Given the description of an element on the screen output the (x, y) to click on. 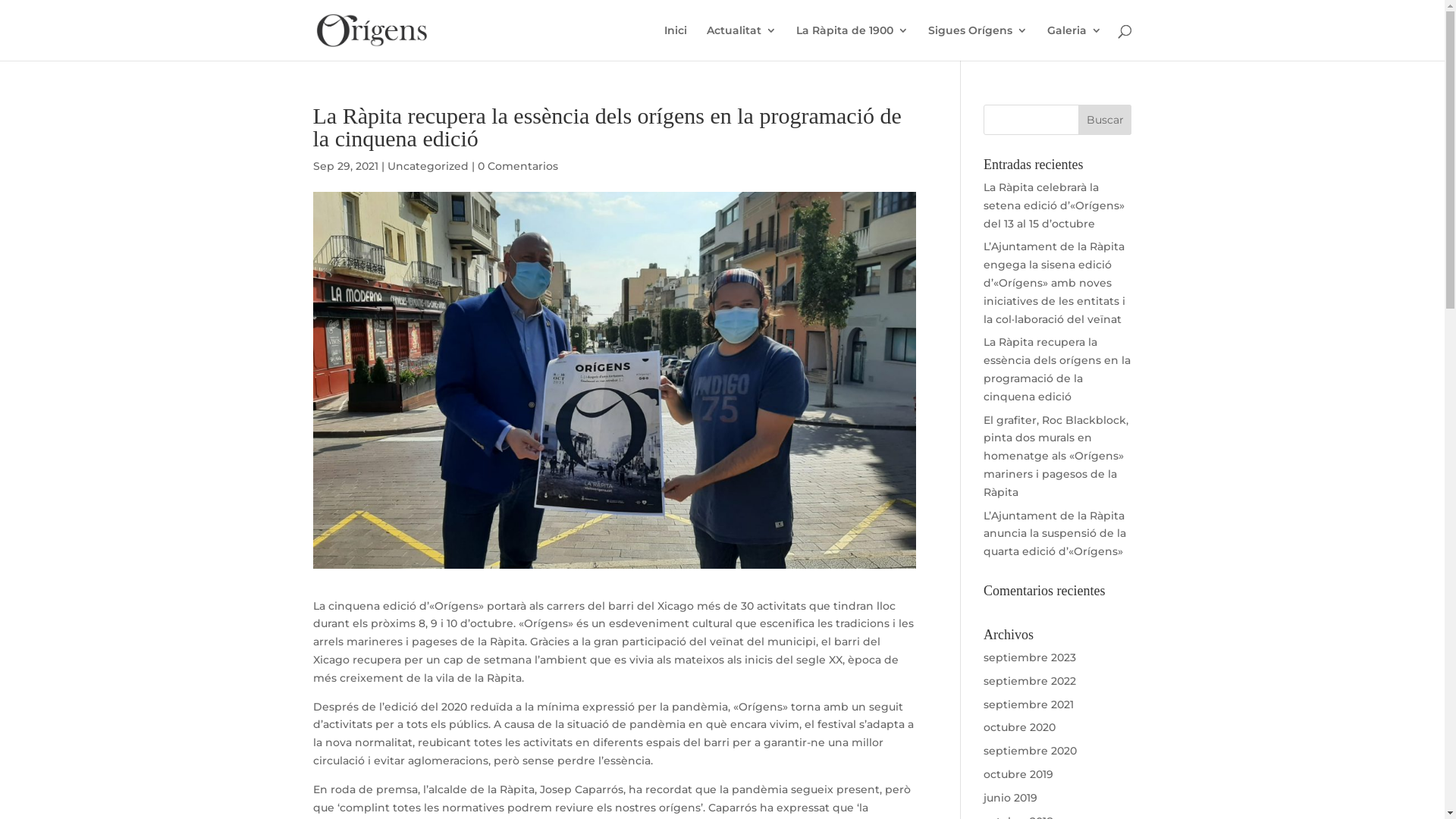
septiembre 2023 Element type: text (1029, 657)
Actualitat Element type: text (741, 42)
octubre 2020 Element type: text (1019, 727)
septiembre 2022 Element type: text (1029, 680)
junio 2019 Element type: text (1010, 797)
septiembre 2021 Element type: text (1028, 704)
Galeria Element type: text (1073, 42)
octubre 2019 Element type: text (1018, 774)
Buscar Element type: text (1105, 119)
septiembre 2020 Element type: text (1029, 750)
0 Comentarios Element type: text (517, 165)
Uncategorized Element type: text (426, 165)
Inici Element type: text (675, 42)
